Given the description of an element on the screen output the (x, y) to click on. 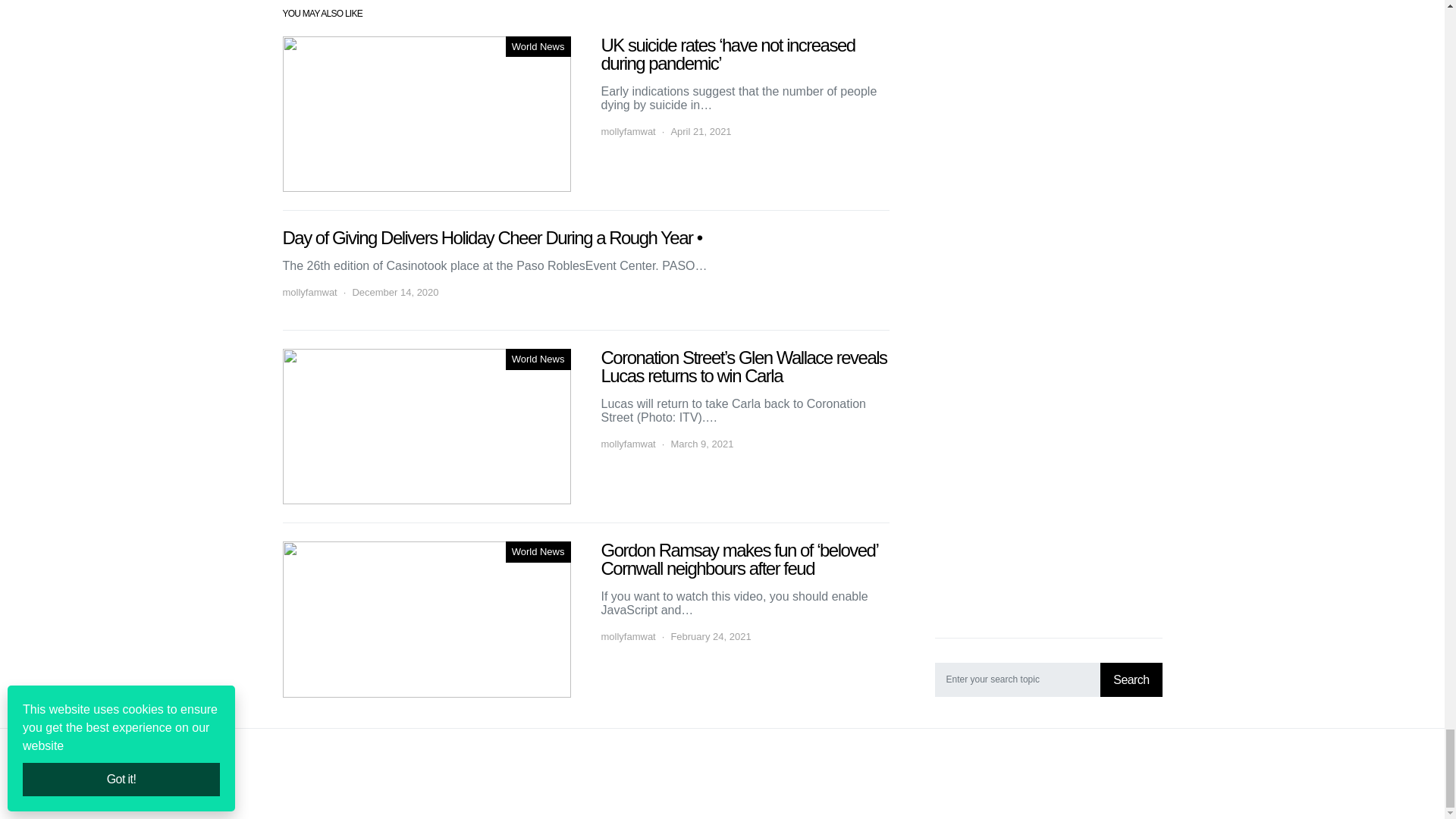
View all posts by mollyfamwat (309, 292)
View all posts by mollyfamwat (627, 636)
View all posts by mollyfamwat (627, 130)
View all posts by mollyfamwat (627, 444)
